Given the description of an element on the screen output the (x, y) to click on. 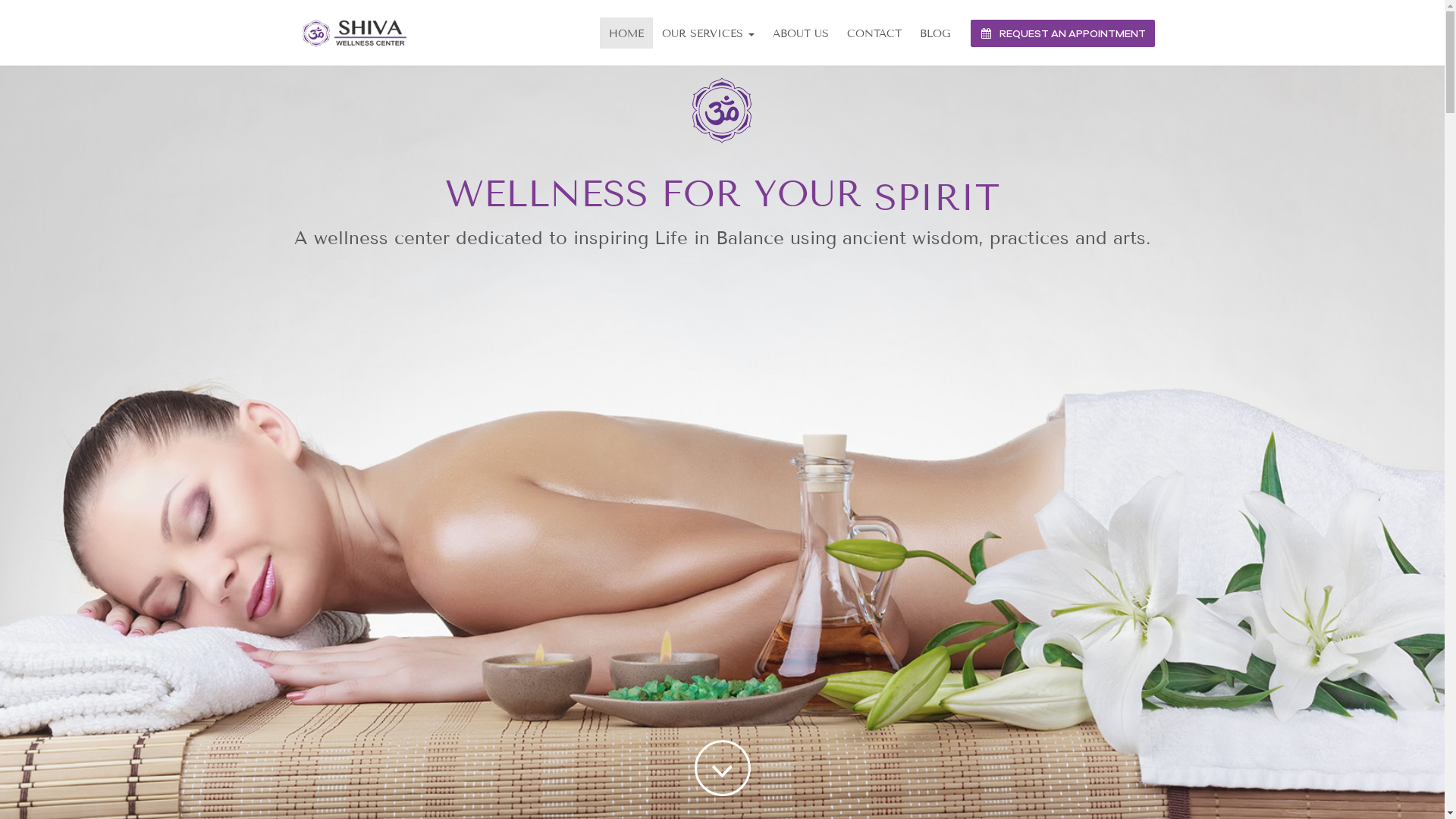
CONTACT Element type: text (873, 32)
BLOG Element type: text (934, 32)
HOME Element type: text (625, 32)
ABOUT US Element type: text (799, 32)
REQUEST AN APPOINTMENT Element type: text (1062, 33)
OUR SERVICES Element type: text (707, 32)
